Given the description of an element on the screen output the (x, y) to click on. 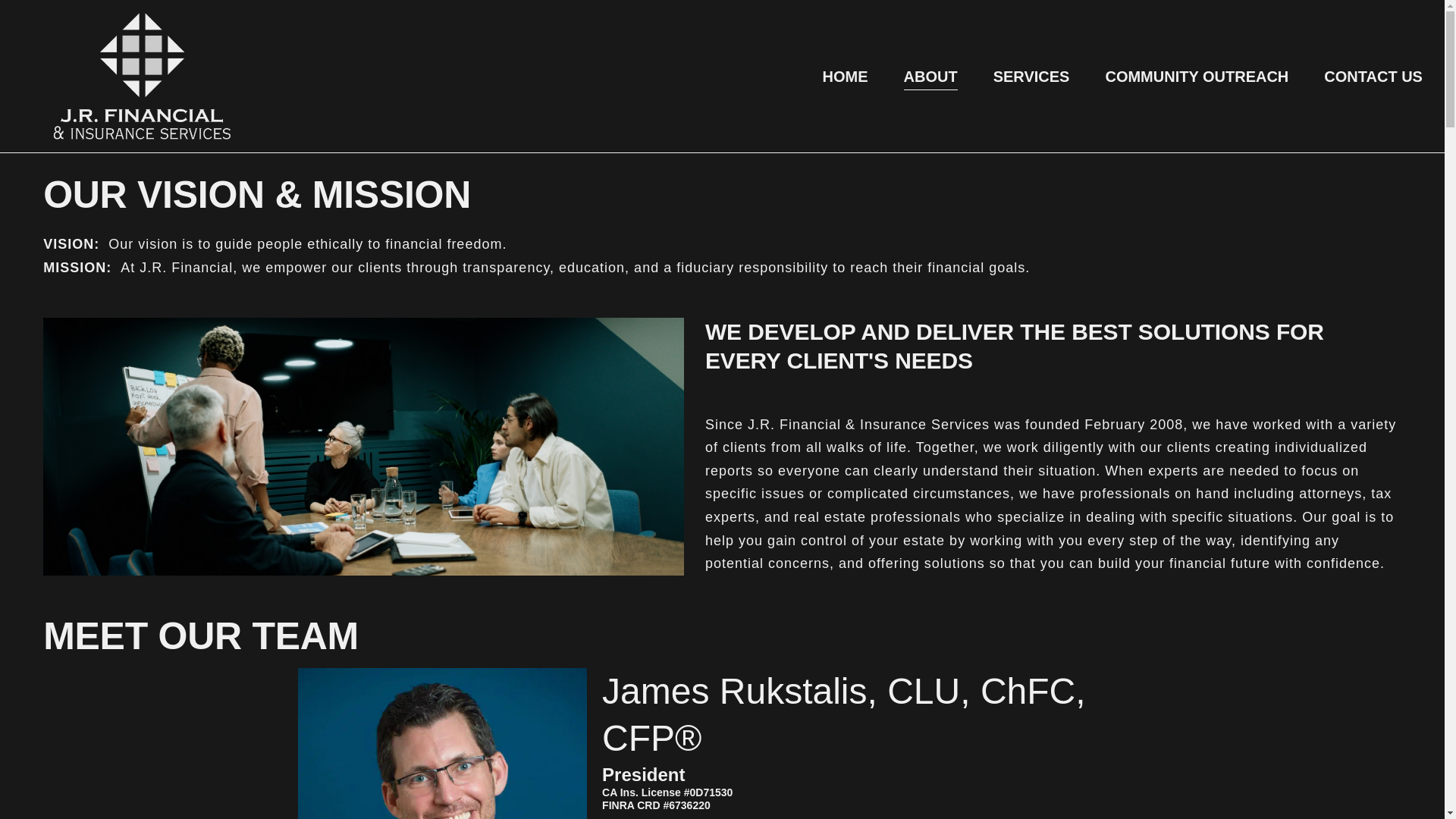
COMMUNITY OUTREACH (1196, 76)
SERVICES (1031, 76)
ABOUT (931, 76)
CONTACT US (1372, 76)
HOME (844, 76)
